Given the description of an element on the screen output the (x, y) to click on. 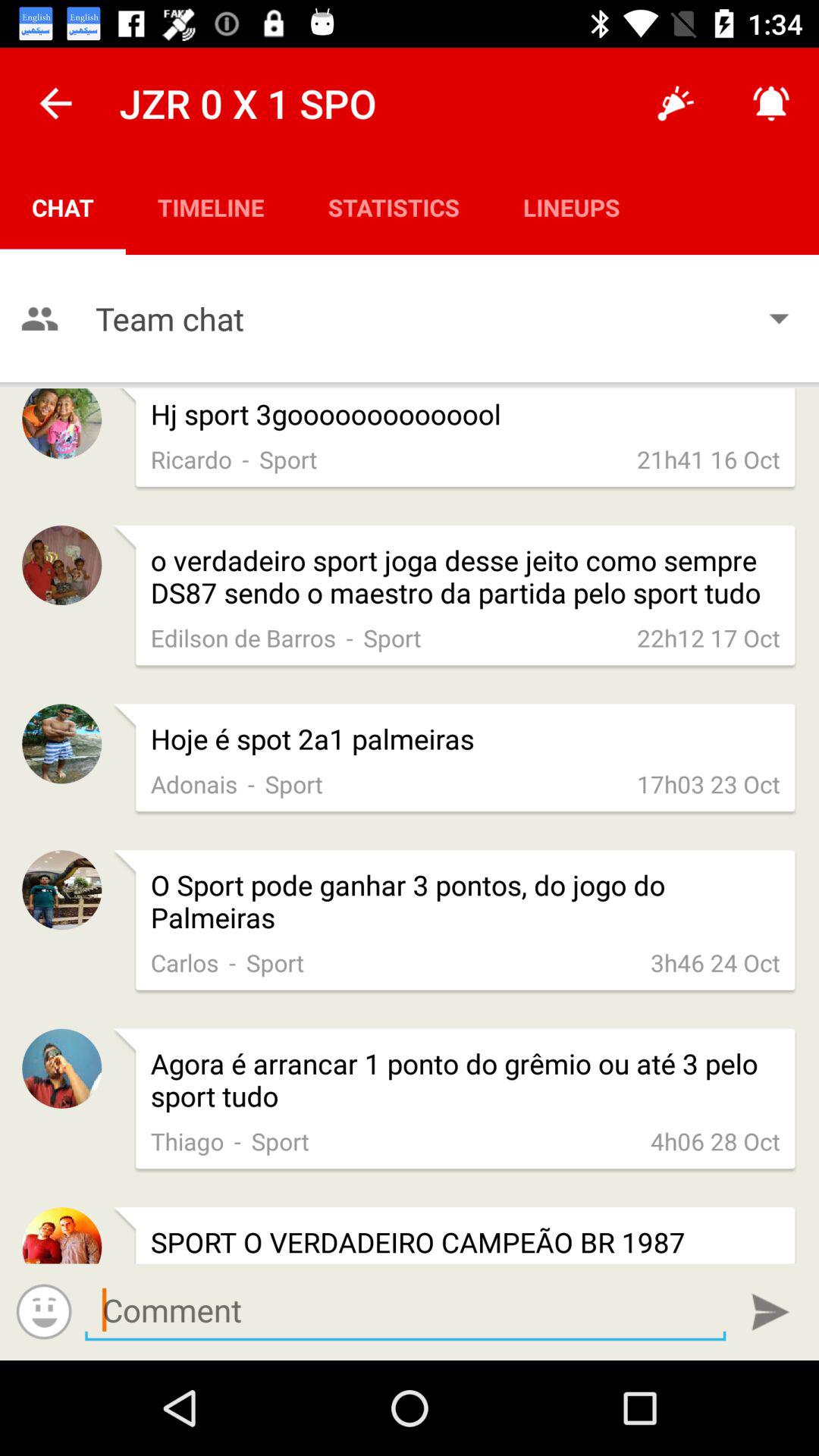
open 21h41 16 oct icon (708, 459)
